Given the description of an element on the screen output the (x, y) to click on. 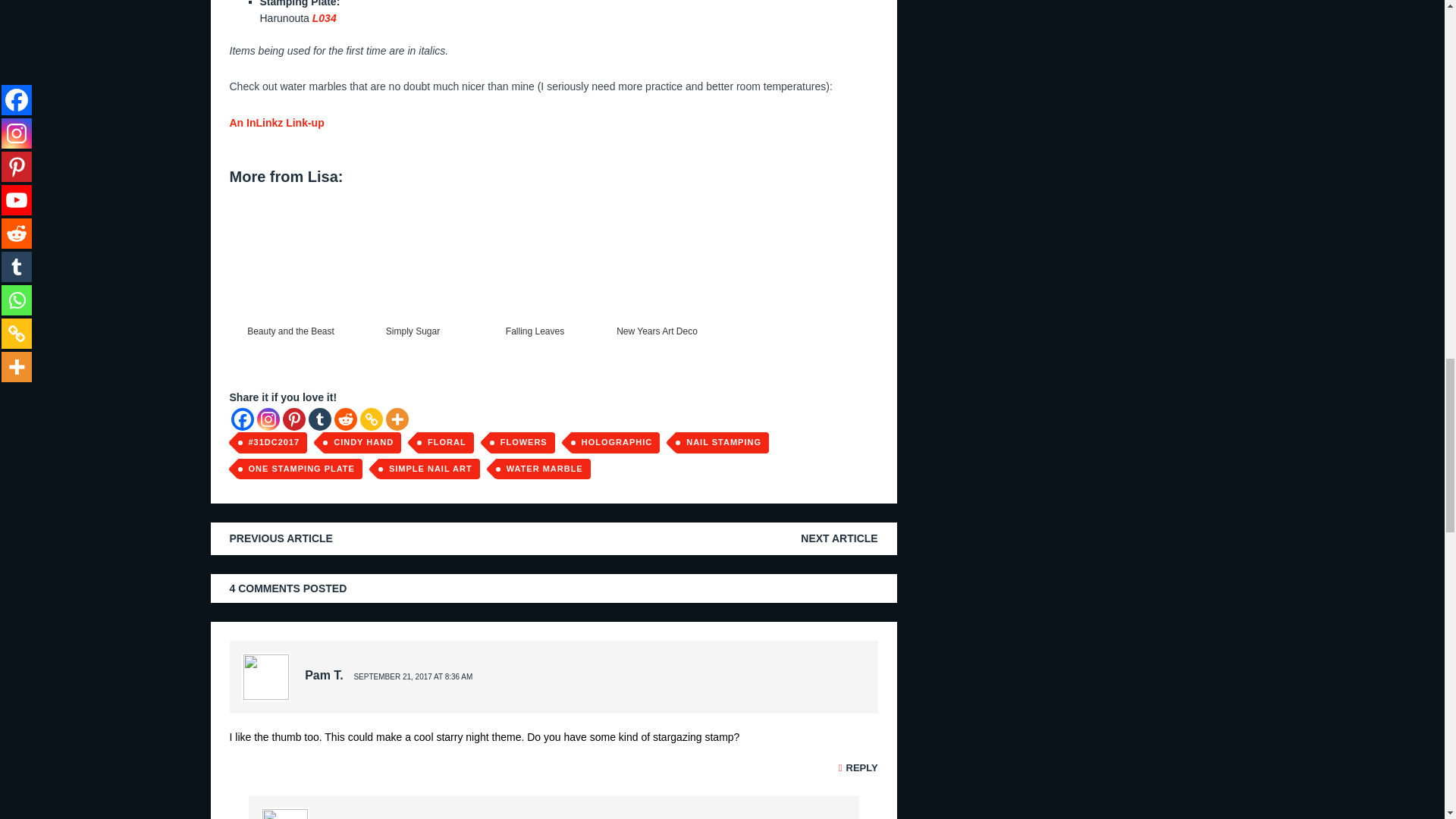
Tumblr (318, 418)
Copy Link (370, 418)
More (396, 418)
click to view in an external page. (275, 122)
L034 (324, 18)
An InLinkz Link-up (275, 122)
Reddit (344, 418)
Instagram (267, 418)
Pinterest (293, 418)
Facebook (241, 418)
